Given the description of an element on the screen output the (x, y) to click on. 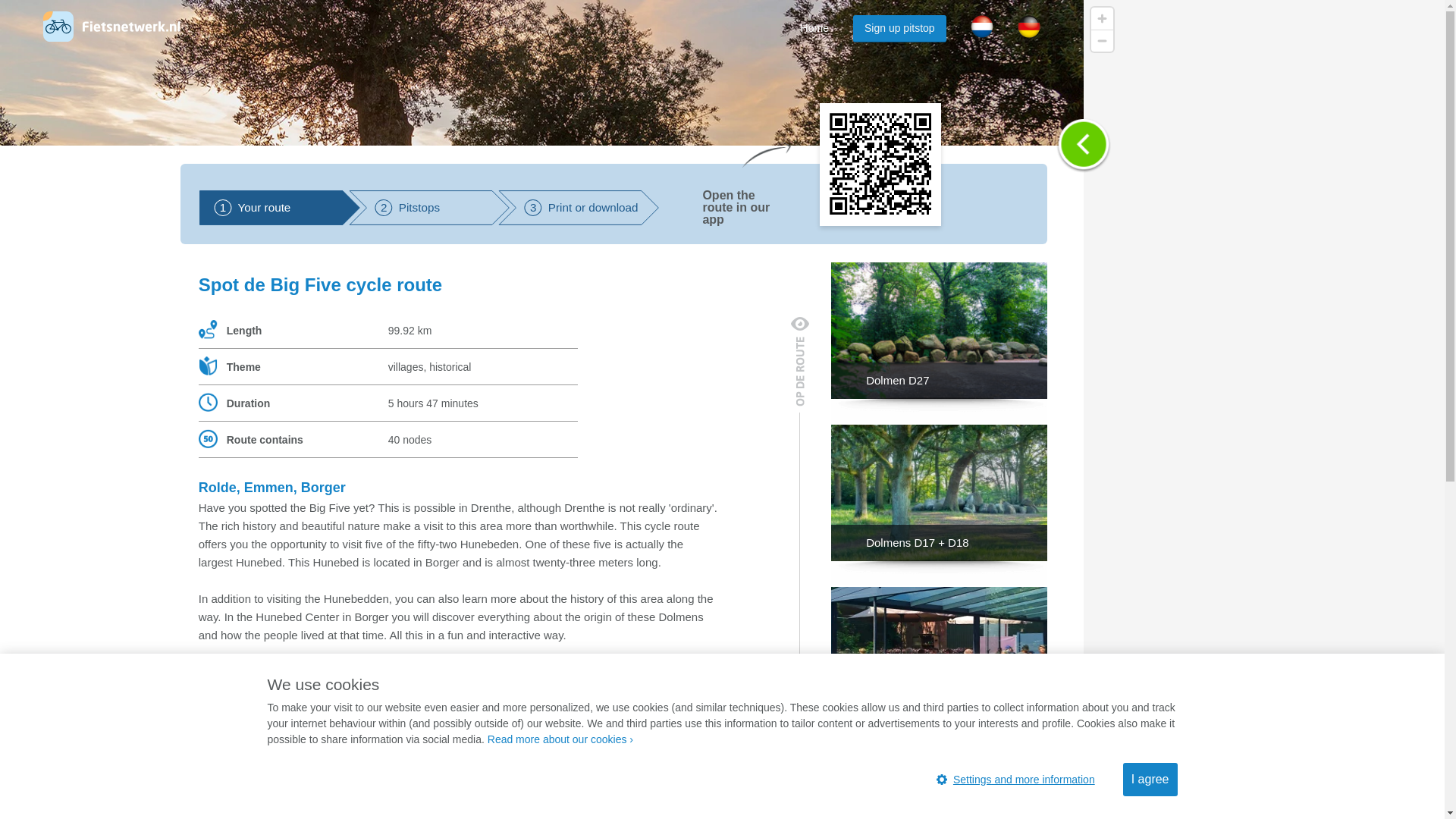
theme (207, 365)
OpenMapTiles (1260, 801)
route contains (207, 438)
Sign up pitstop (899, 28)
Zoom out (1101, 40)
Zoom in (578, 207)
Enlarge map (1101, 18)
OpenStreetMap contributors (1083, 144)
Toggle attribution (1358, 801)
RouteStack (429, 207)
Write a review (1427, 802)
Open Spot de Big Five cycle route in onze app (1196, 801)
